Given the description of an element on the screen output the (x, y) to click on. 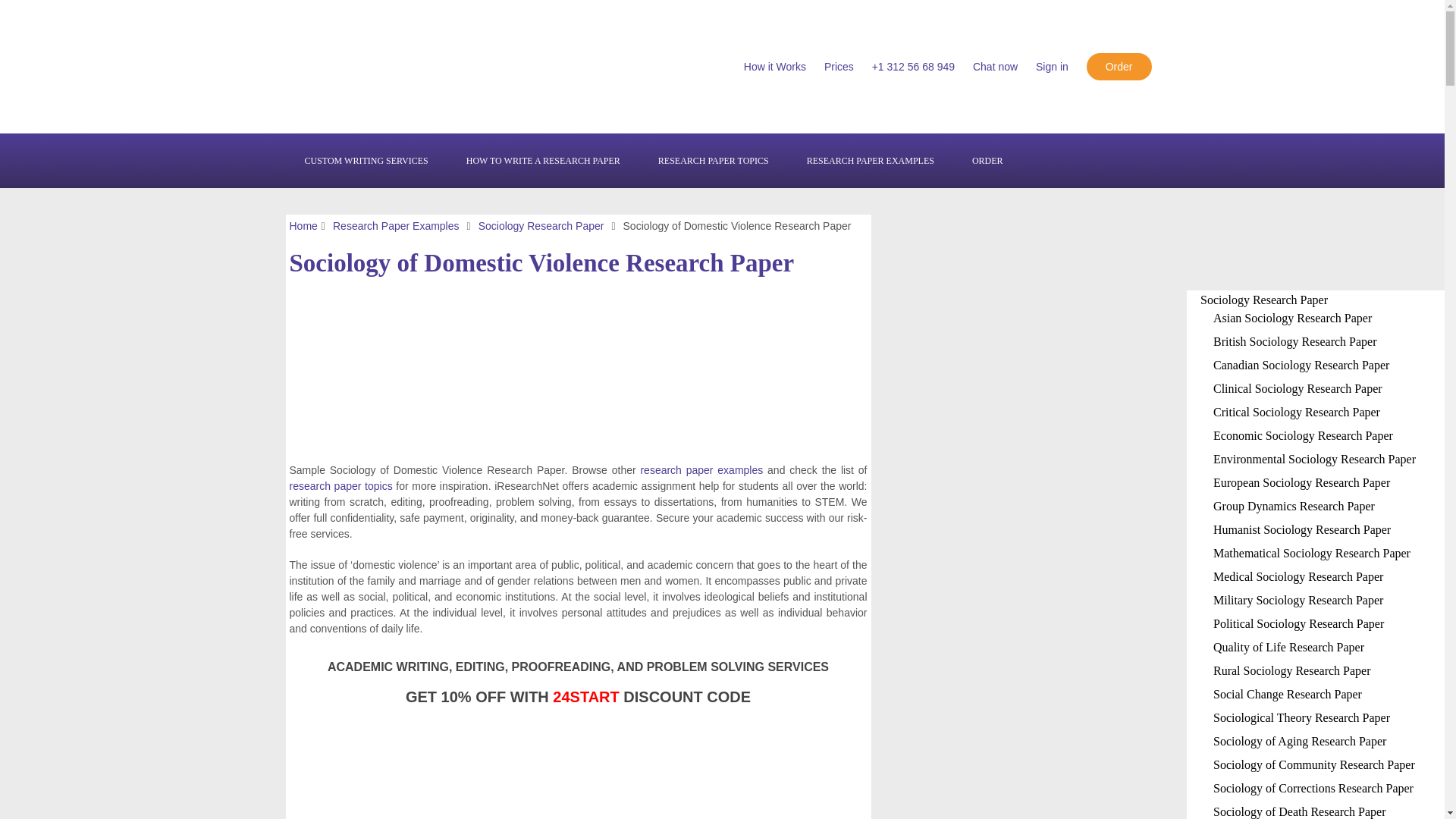
Clinical Sociology Research Paper (1296, 388)
Canadian Sociology Research Paper (1300, 364)
Group Dynamics Research Paper (1293, 505)
Sign in (1051, 66)
Quality of Life Research Paper (1288, 646)
Research Paper Examples (396, 225)
ORDER (987, 160)
Military Sociology Research Paper (1297, 599)
Military Sociology Research Paper (1297, 599)
Prices (838, 66)
